Given the description of an element on the screen output the (x, y) to click on. 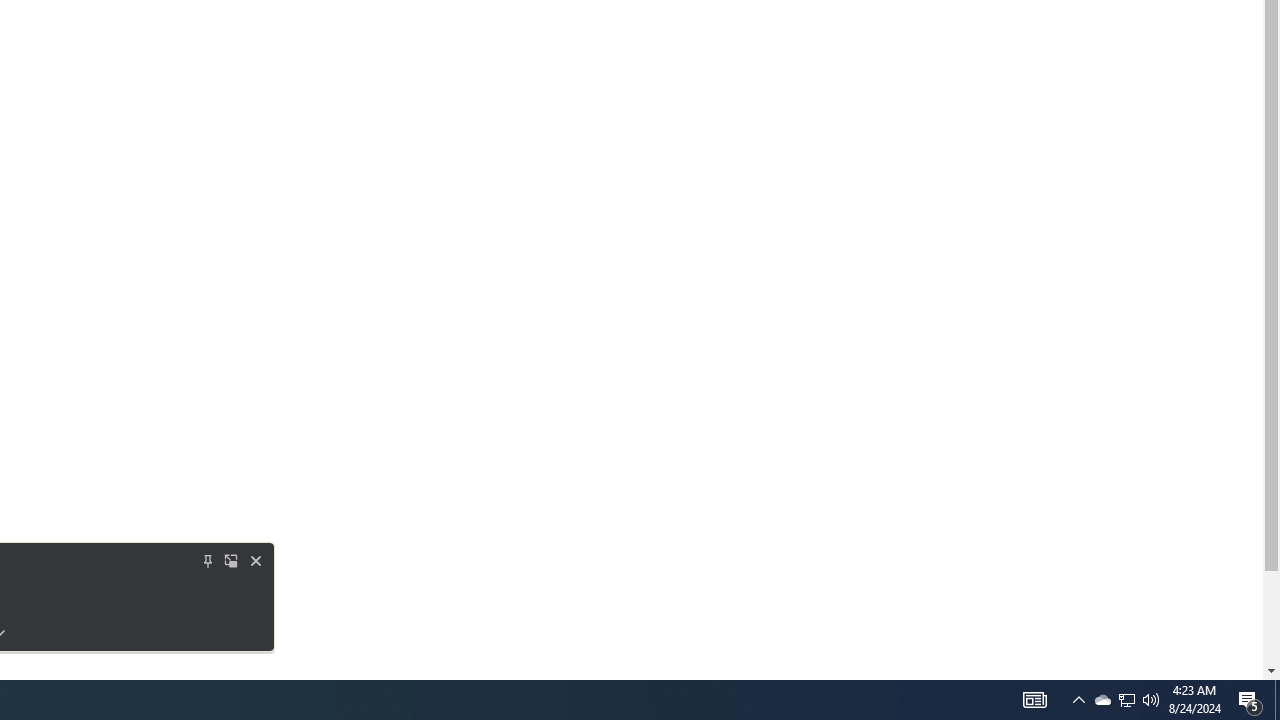
Notification Chevron (1078, 699)
User Promoted Notification Area (1126, 699)
Turn off Live Caption for now (255, 560)
AutomationID: 4105 (1034, 699)
Q2790: 100% (1151, 699)
Pin (1126, 699)
Back to tab (207, 560)
Action Center, 5 new notifications (232, 560)
Show desktop (1250, 699)
